Given the description of an element on the screen output the (x, y) to click on. 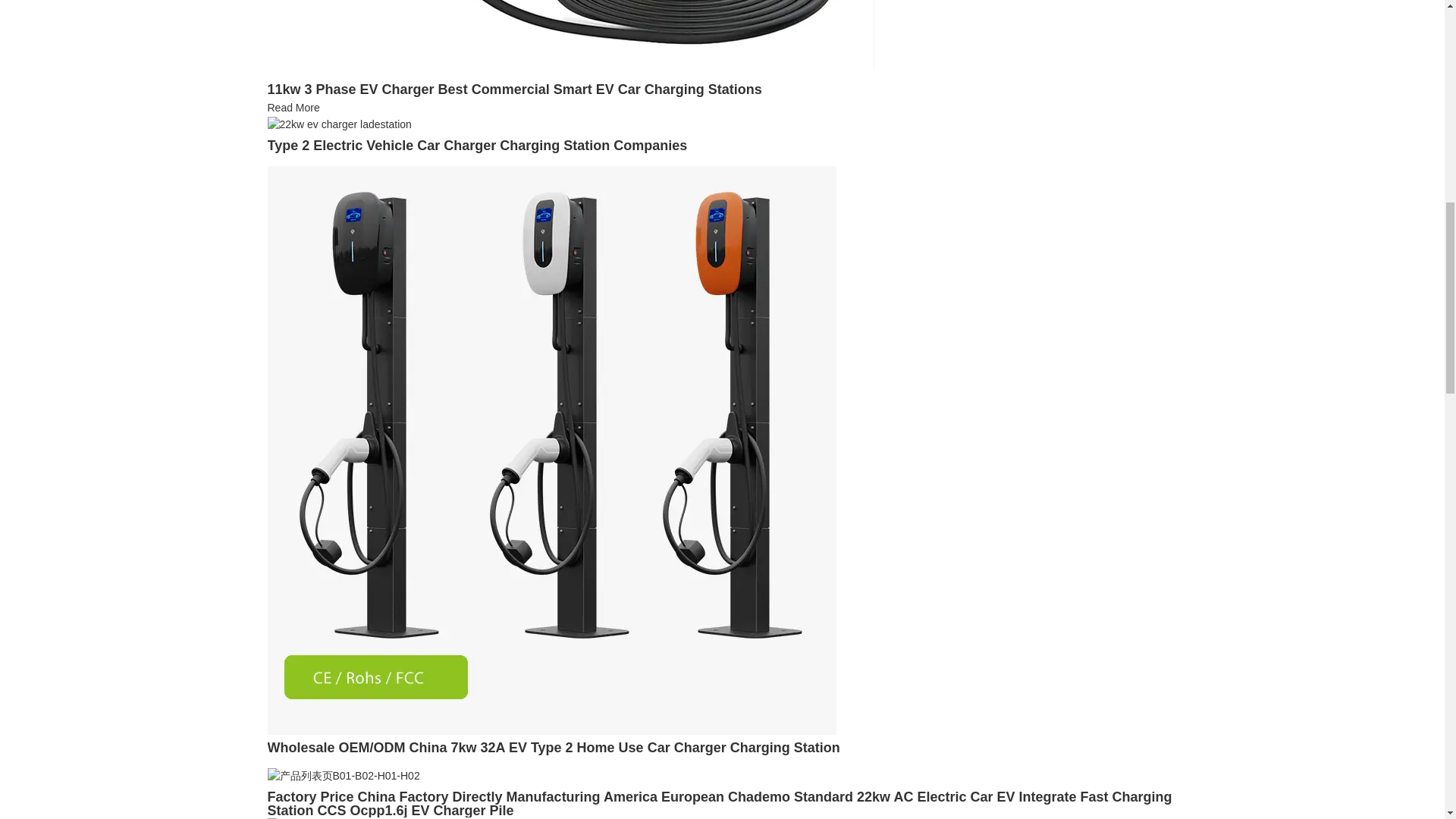
Read More (292, 107)
